Given the description of an element on the screen output the (x, y) to click on. 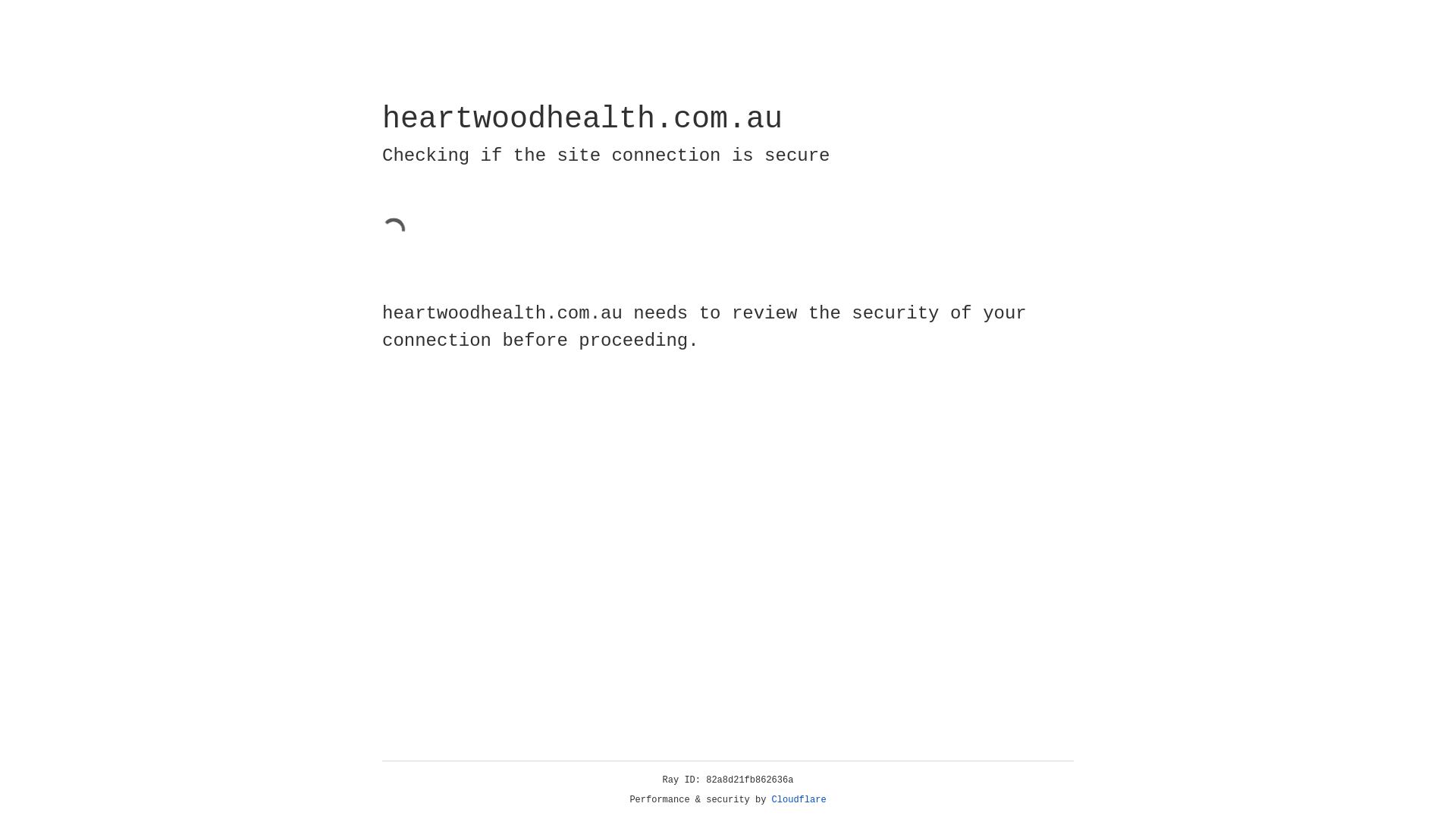
Cloudflare Element type: text (798, 799)
